Given the description of an element on the screen output the (x, y) to click on. 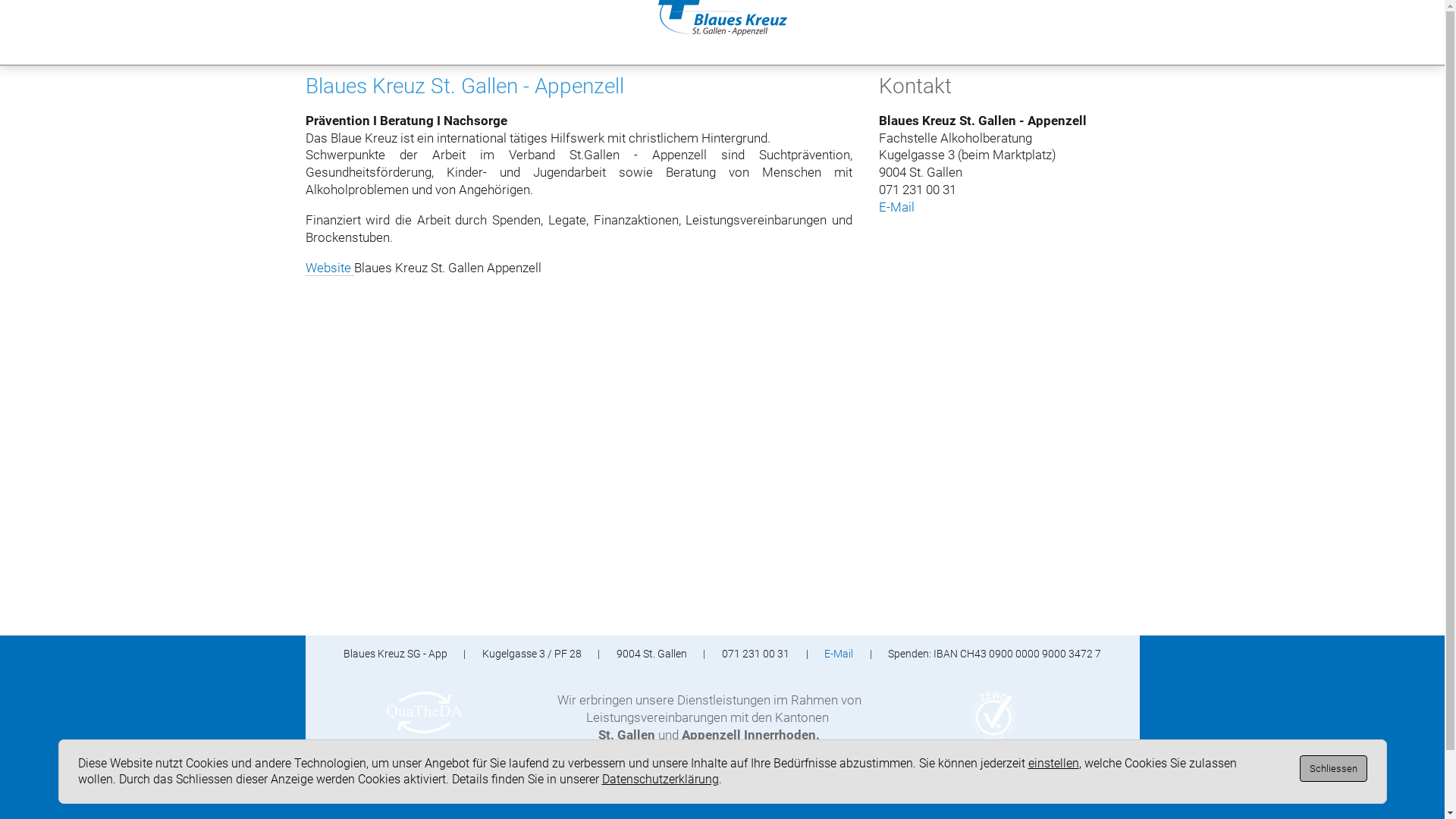
Blaues Kreuz St. Gallen - Appenzell Element type: text (1261, 45)
Website Element type: text (328, 268)
Home Element type: text (10, 42)
Impressum  Element type: text (649, 770)
E-Mail Element type: text (896, 206)
Ablauf ambulanter Alkoholentzug Element type: text (395, 45)
Schliessen Element type: text (1333, 768)
Kontaktformular Element type: text (829, 45)
E-Mail Element type: text (838, 653)
